Given the description of an element on the screen output the (x, y) to click on. 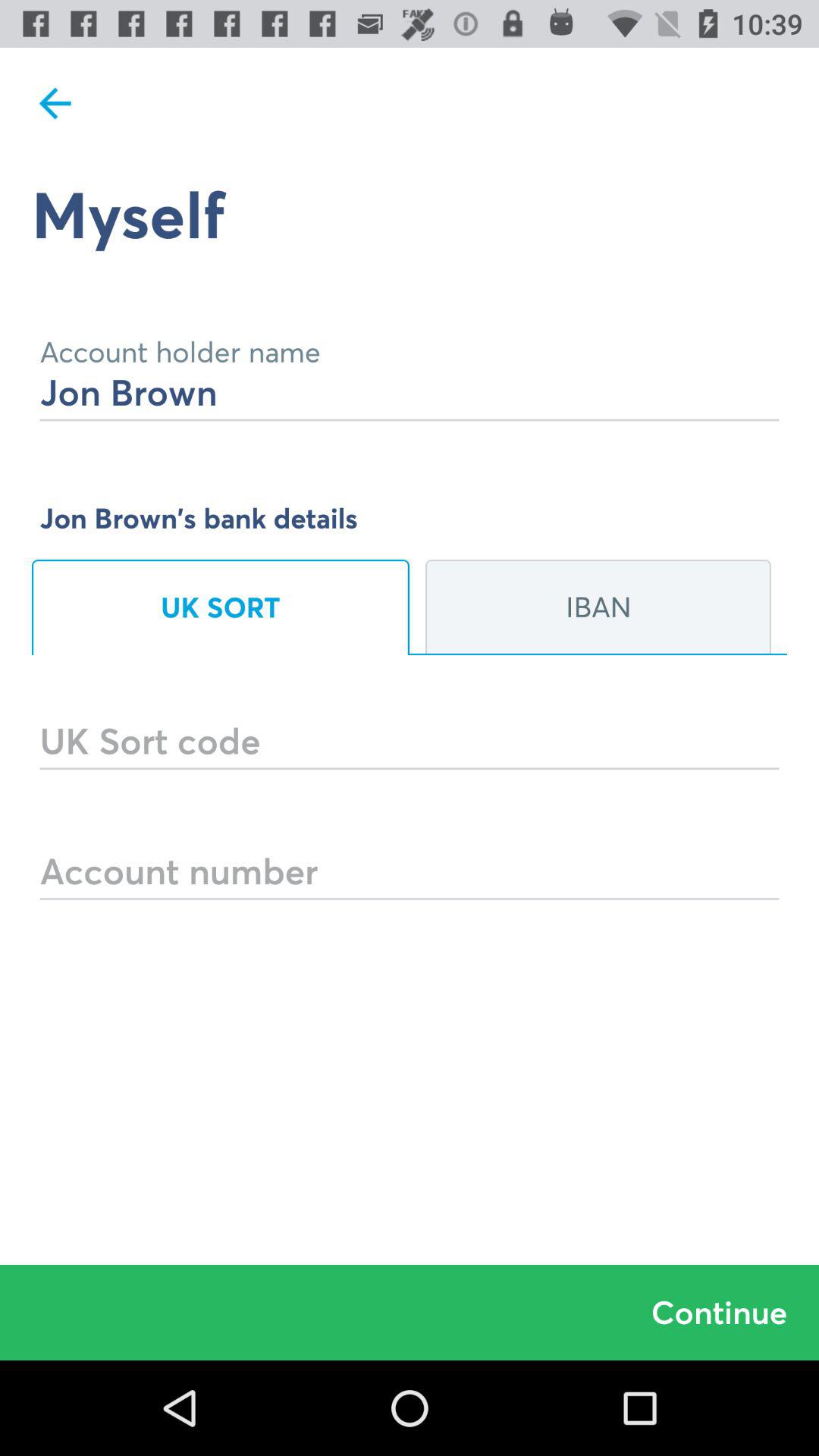
select the continue item (409, 1312)
